Given the description of an element on the screen output the (x, y) to click on. 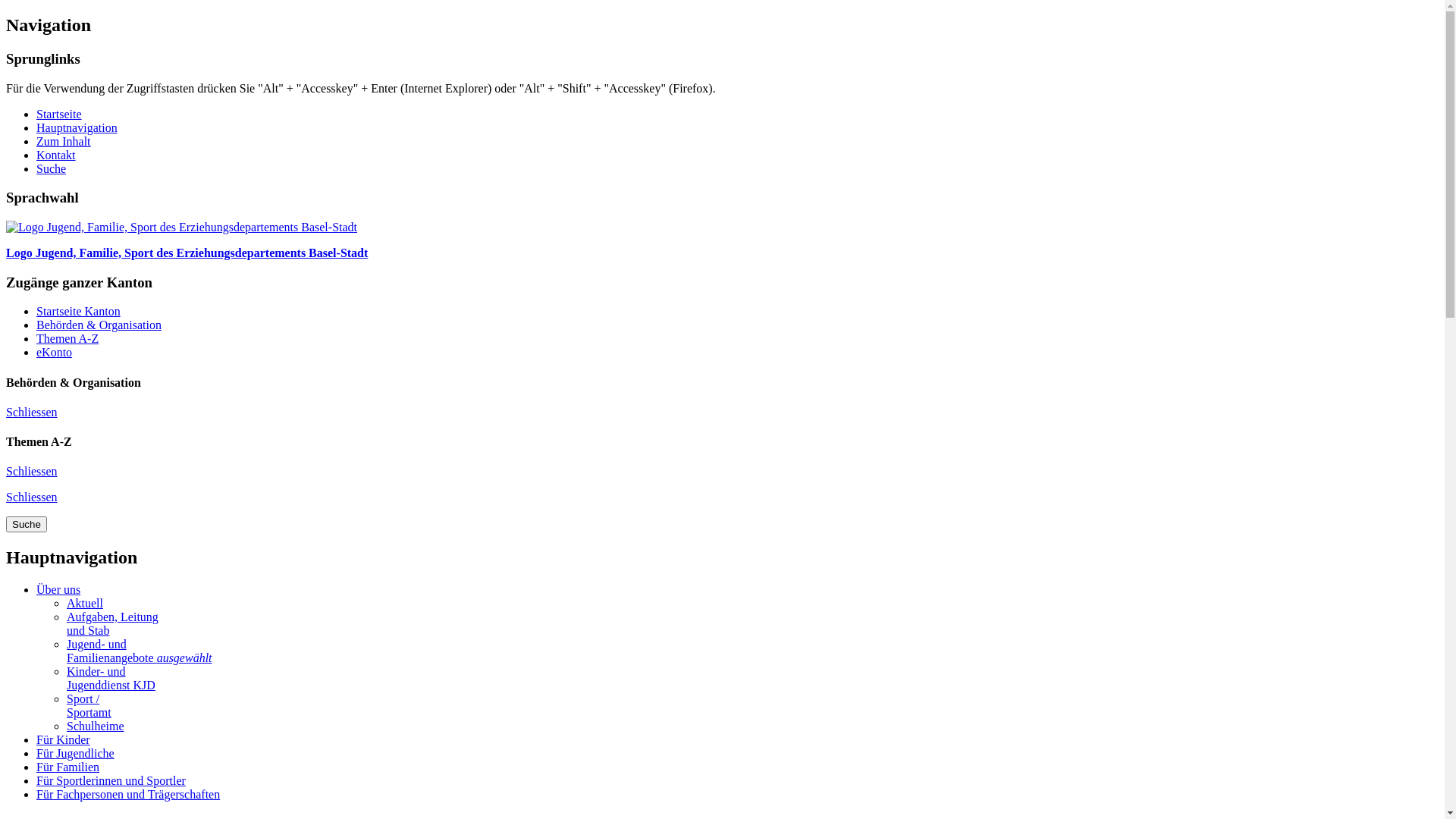
Hauptnavigation Element type: text (76, 127)
Schliessen Element type: text (31, 496)
Suche Element type: text (26, 524)
Suche Element type: text (50, 168)
Aktuell Element type: text (84, 602)
Aufgaben, Leitung
und Stab Element type: text (112, 623)
Schliessen Element type: text (31, 470)
Themen A-Z Element type: text (67, 338)
Sport /
Sportamt Element type: text (88, 705)
Kontakt Element type: text (55, 154)
Zum Inhalt Element type: text (63, 140)
Startseite Element type: text (58, 113)
Schulheime Element type: text (95, 725)
Kinder- und
Jugenddienst KJD Element type: text (110, 678)
Startseite Kanton Element type: text (78, 310)
eKonto Element type: text (54, 351)
Schliessen Element type: text (31, 411)
